Given the description of an element on the screen output the (x, y) to click on. 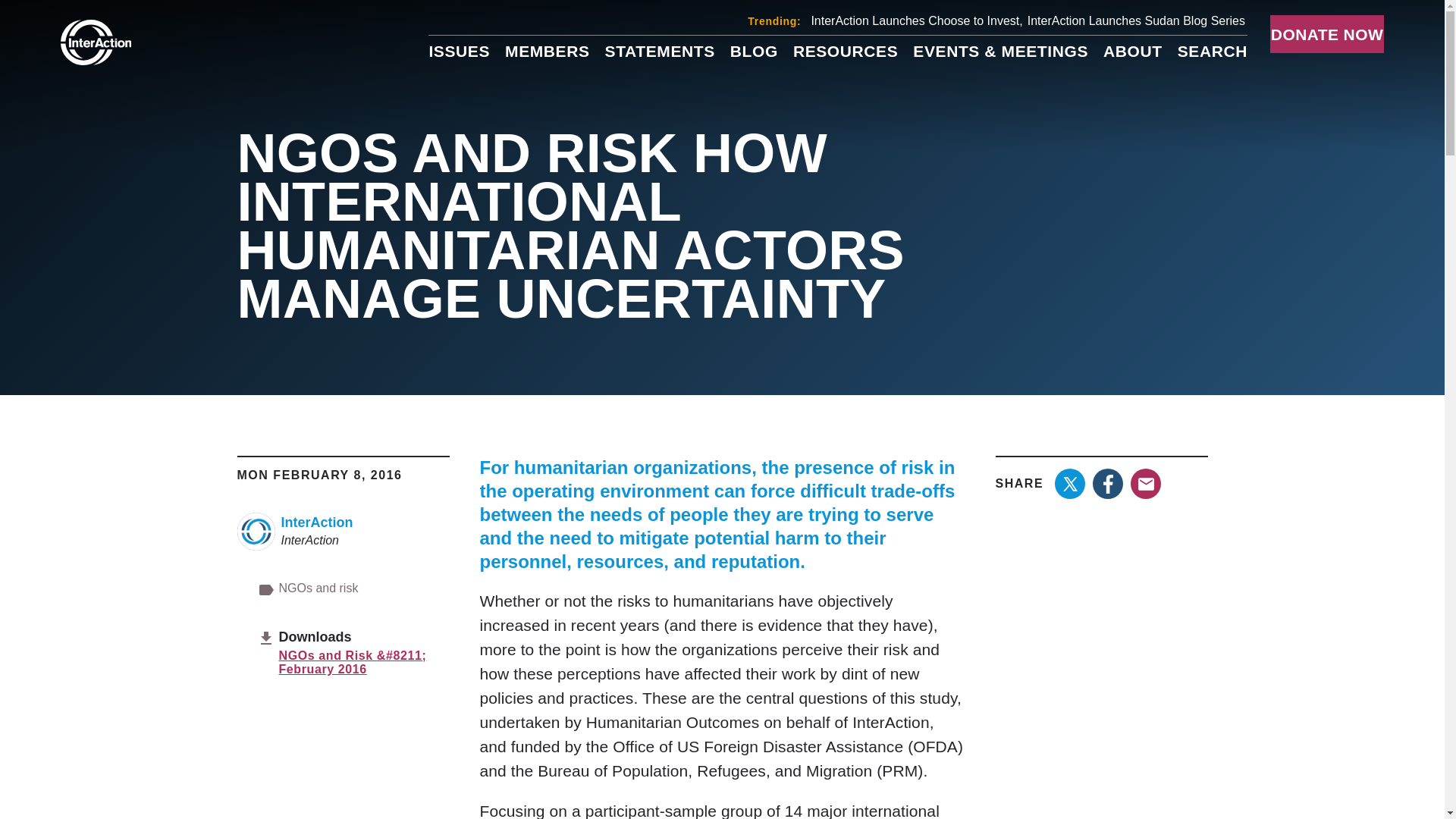
InterAction Launches Choose to Invest (916, 20)
InterAction Launches Sudan Blog Series (1135, 20)
ISSUES (458, 50)
